Given the description of an element on the screen output the (x, y) to click on. 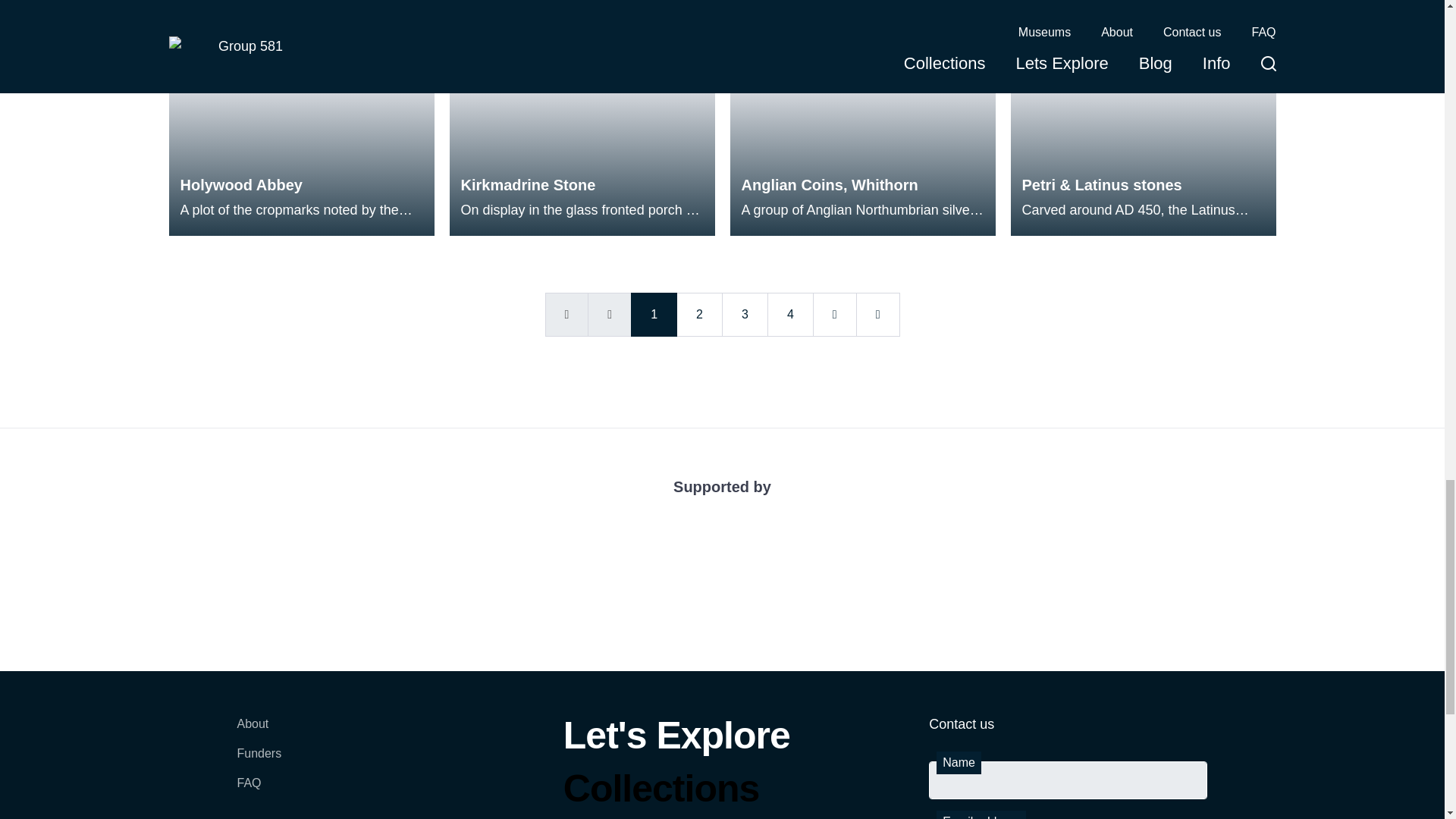
1 (653, 314)
